Given the description of an element on the screen output the (x, y) to click on. 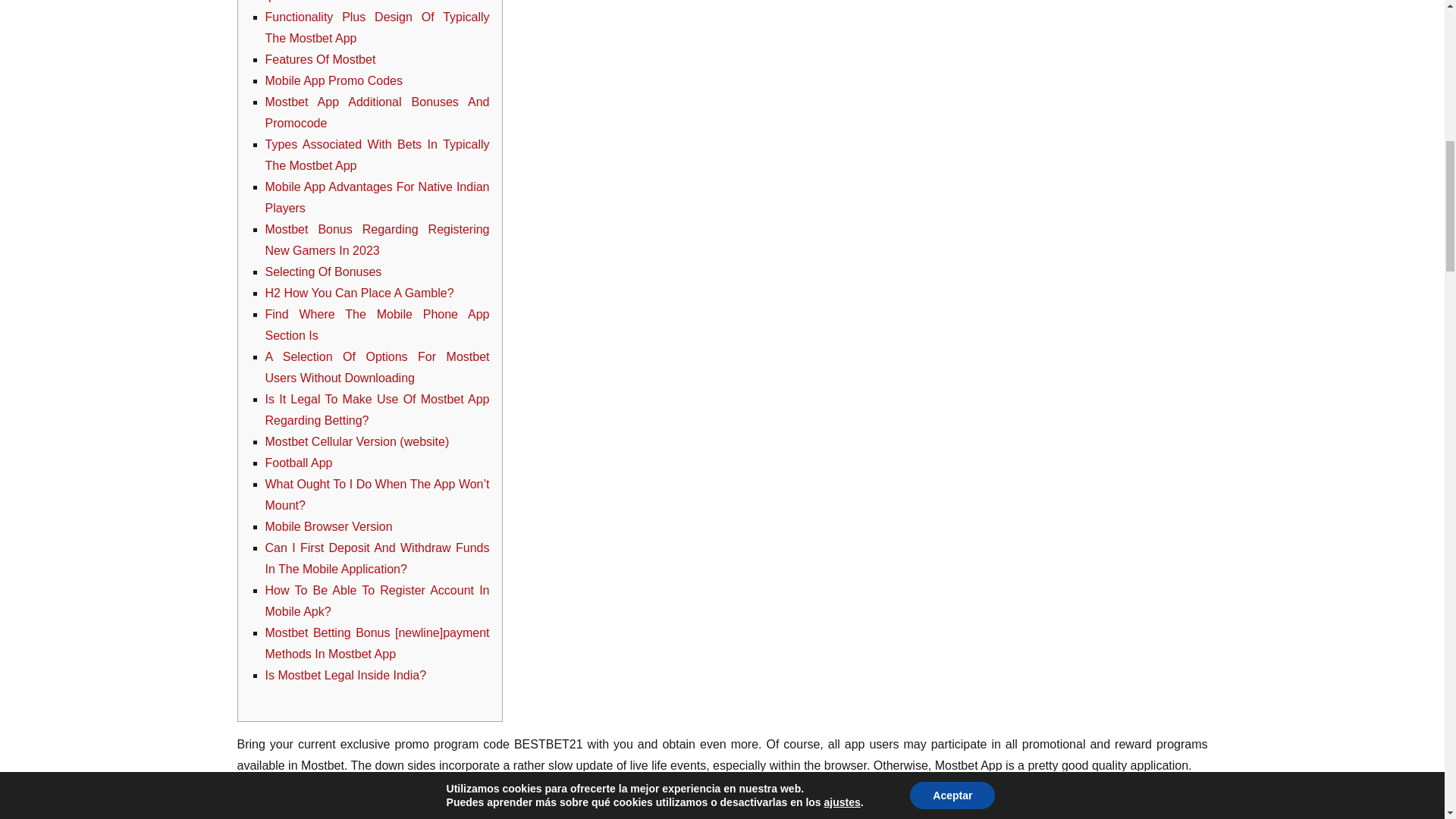
Find Where The Mobile Phone App Section Is (376, 324)
Mostbet Bonus Regarding Registering New Gamers In 2023 (376, 239)
Is It Legal To Make Use Of Mostbet App Regarding Betting? (376, 409)
H2 How You Can Place A Gamble? (359, 292)
Types Associated With Bets In Typically The Mostbet App (376, 154)
Selecting Of Bonuses (322, 271)
Functionality Plus Design Of Typically The Mostbet App (376, 27)
Mobile App Promo Codes (333, 80)
Mobile App Advantages For Native Indian Players (376, 197)
Features Of Mostbet (319, 59)
Mostbet App Additional Bonuses And Promocode (376, 112)
A Selection Of Options For Mostbet Users Without Downloading (376, 367)
